Given the description of an element on the screen output the (x, y) to click on. 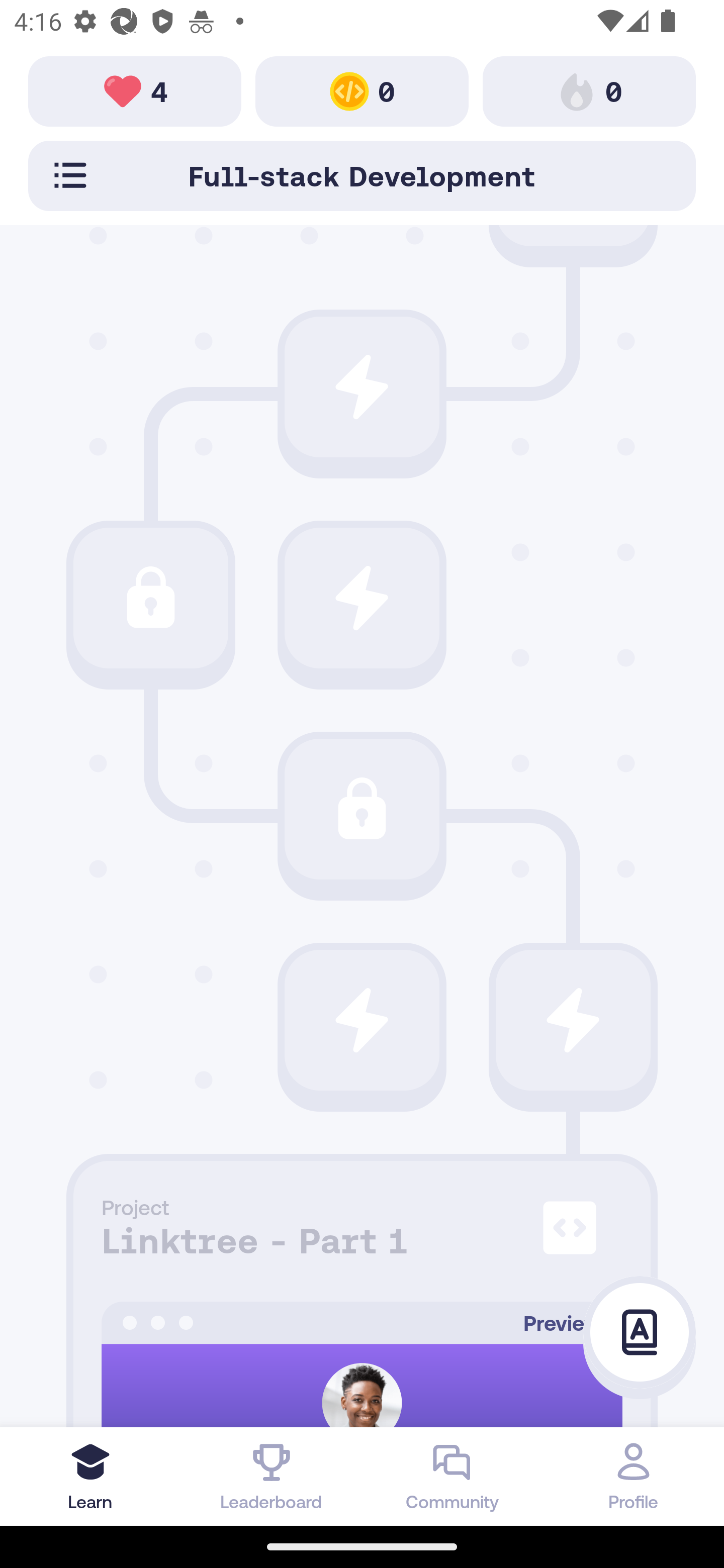
Path Toolbar Image 4 (134, 90)
Path Toolbar Image 0 (361, 90)
Path Toolbar Image 0 (588, 90)
Path Toolbar Selector Full-stack Development (361, 175)
Path Icon (361, 386)
Path Icon (150, 597)
Path Icon (361, 597)
Path Icon (361, 808)
Path Icon (361, 1020)
Path Icon (572, 1020)
Glossary Icon (639, 1332)
Leaderboard (271, 1475)
Community (452, 1475)
Profile (633, 1475)
